Given the description of an element on the screen output the (x, y) to click on. 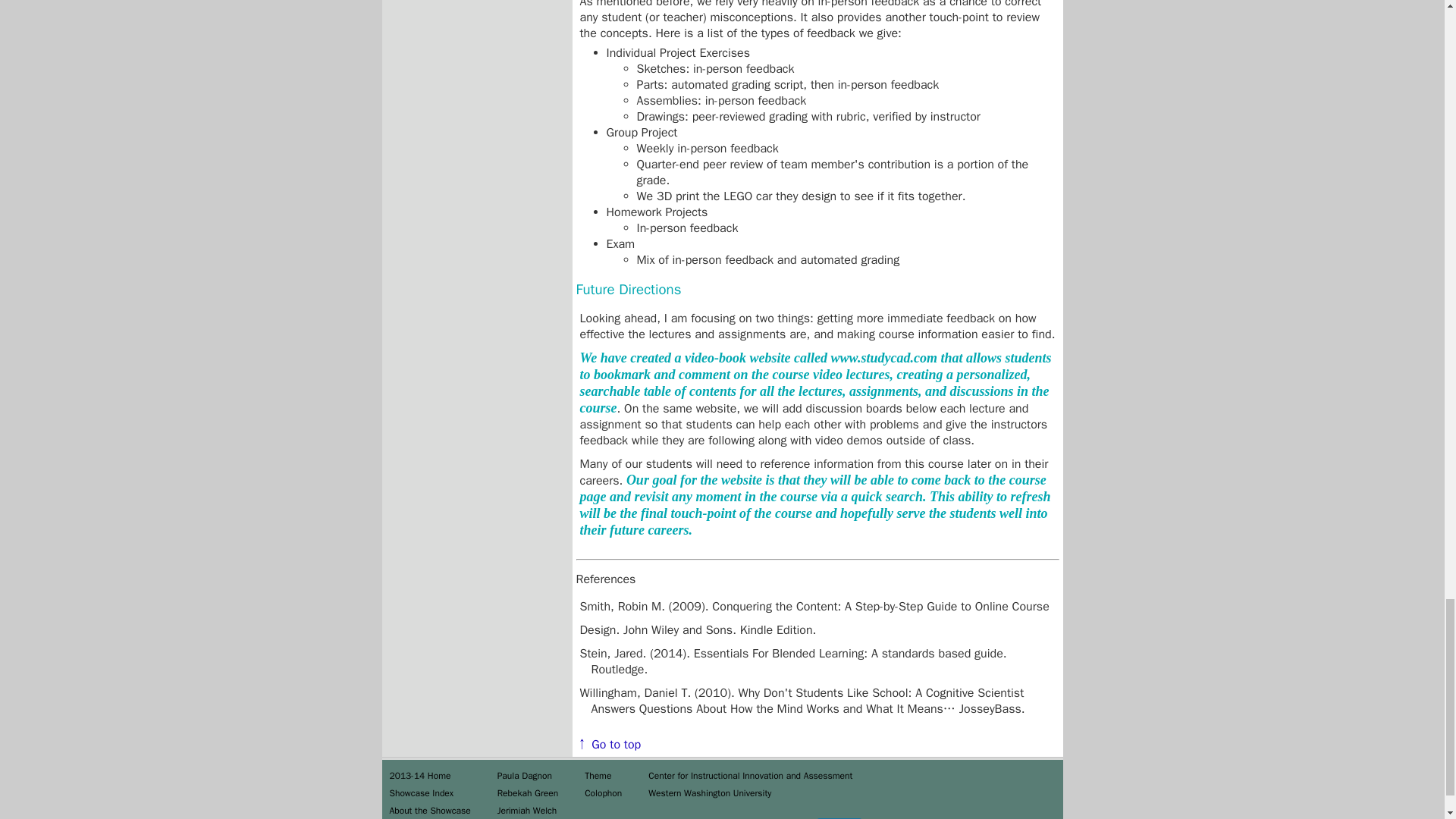
2013-14 Home (420, 775)
Showcase Index (422, 793)
About the Showcase (430, 810)
